Given the description of an element on the screen output the (x, y) to click on. 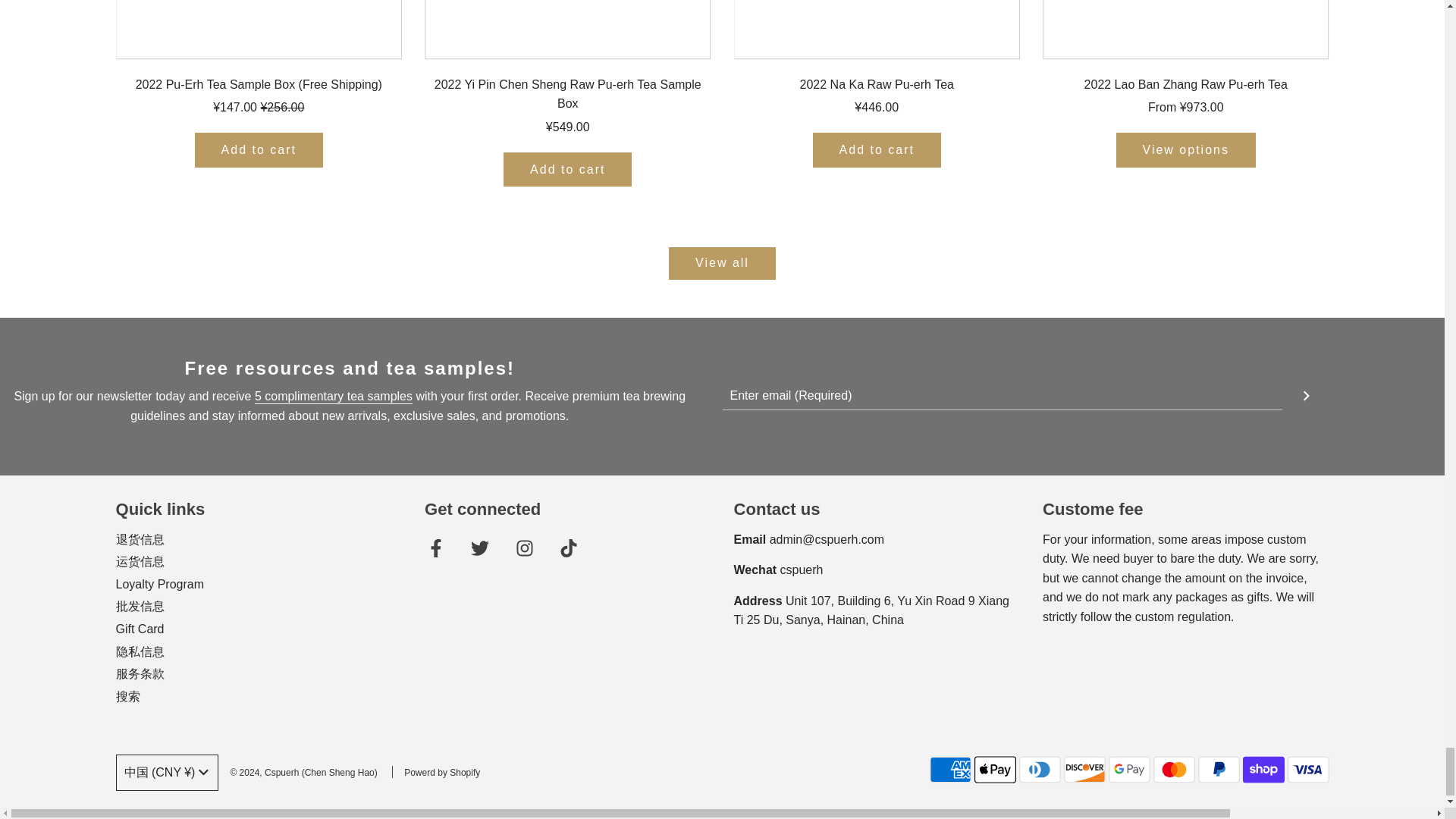
2022 Na Ka Raw Pu-erh Tea (876, 29)
2022 Lao Ban Zhang Raw Pu-erh Tea (1185, 29)
2022 Yi Pin Chen Sheng Raw Pu-erh Tea Sample Box (568, 29)
